Given the description of an element on the screen output the (x, y) to click on. 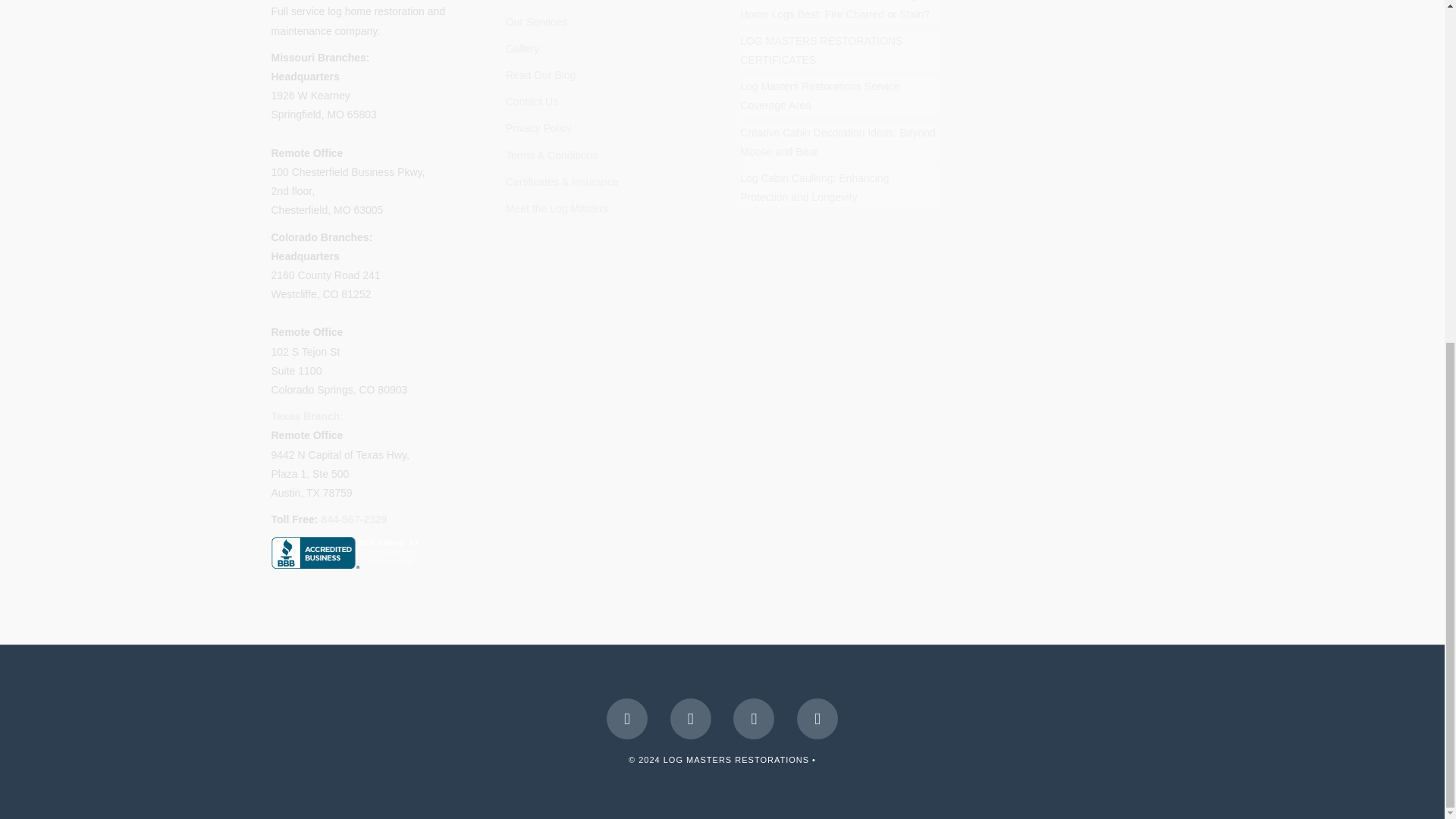
Instagram (817, 718)
Meet the Log Masters (556, 208)
844-567-2329 (353, 519)
Gallery (521, 48)
Read Our Blog (540, 74)
YouTube (753, 718)
Our Services (536, 21)
LinkedIn (690, 718)
About Us (527, 0)
LOG MASTERS RESTORATIONS CERTIFICATES (820, 50)
Privacy Policy (538, 128)
Contact Us (531, 101)
Texas Branch: (306, 416)
Facebook (627, 718)
Log Masters Restorations Service Coverage Area (819, 95)
